Given the description of an element on the screen output the (x, y) to click on. 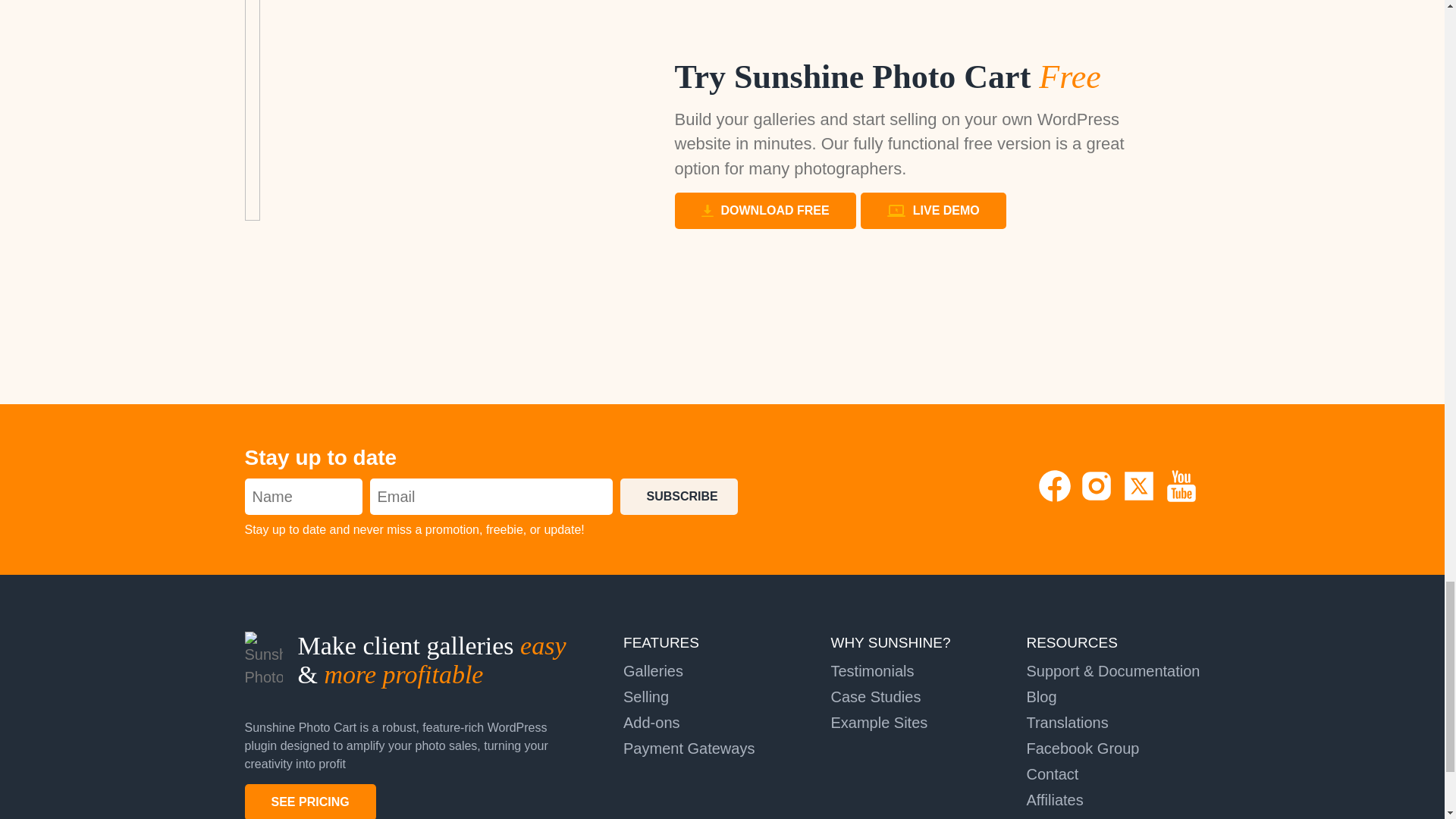
Galleries (652, 670)
DOWNLOAD FREE (765, 210)
Selling (645, 696)
SUBSCRIBE (679, 496)
Facebook (1056, 499)
Instagram (1098, 499)
YouTube (1180, 499)
FEATURES (660, 642)
SEE PRICING (309, 801)
Twitter (1140, 499)
LIVE DEMO (933, 210)
